Given the description of an element on the screen output the (x, y) to click on. 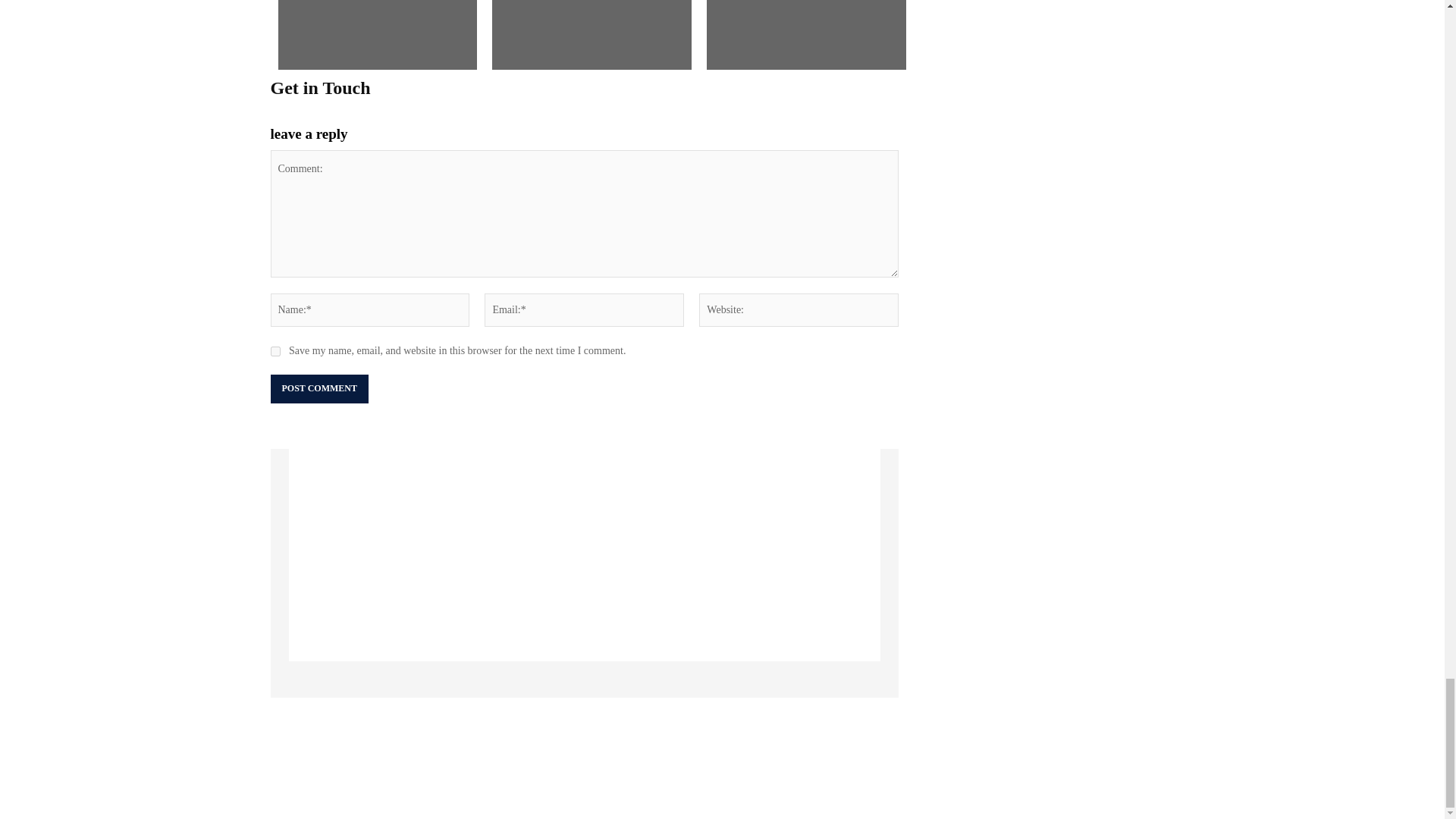
Post Comment (318, 388)
yes (274, 351)
